Given the description of an element on the screen output the (x, y) to click on. 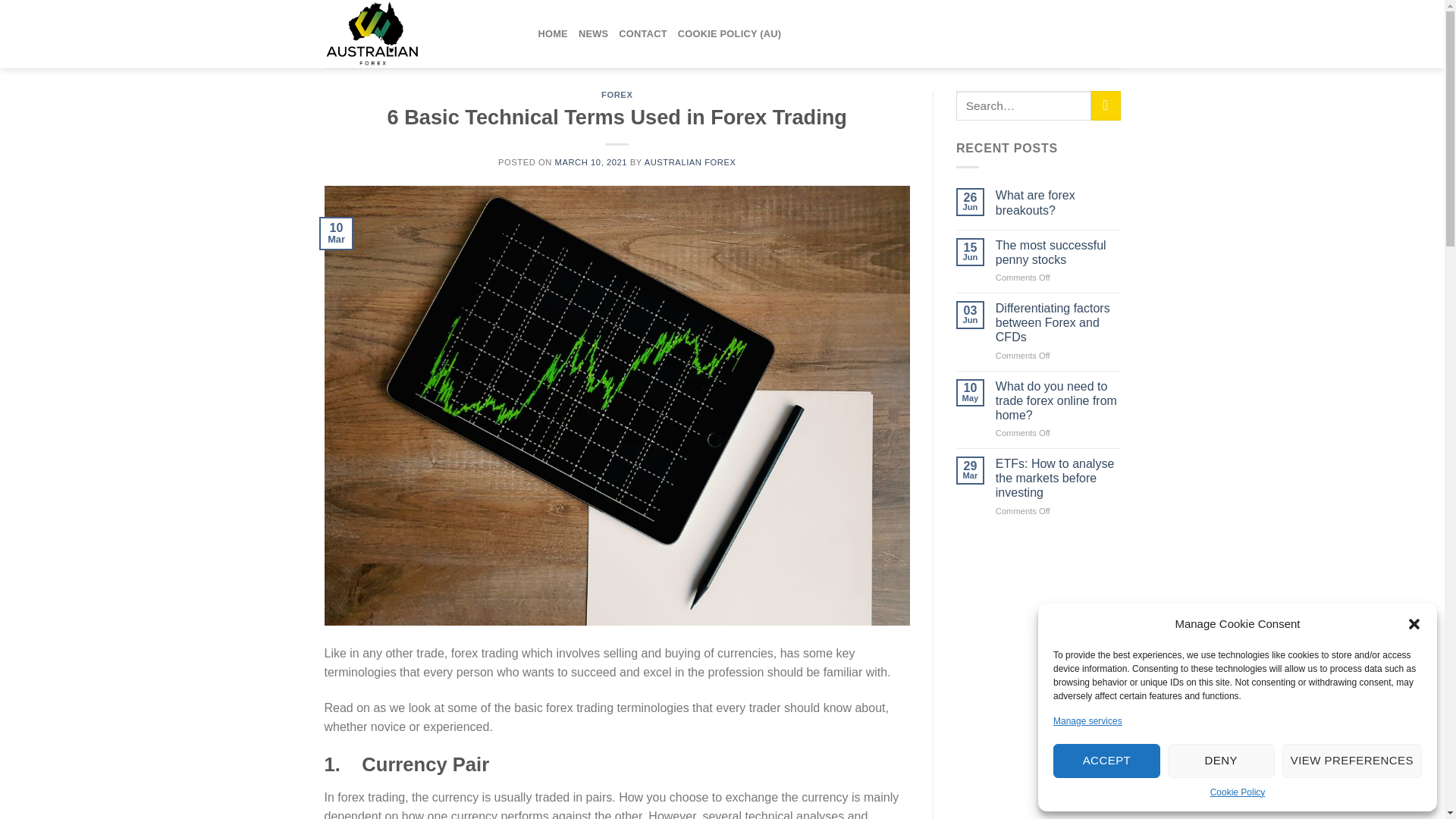
Manage services (1087, 721)
NEWS (593, 33)
DENY (1221, 760)
AUSTRALIAN FOREX (690, 162)
What are forex breakouts?  (1058, 202)
ETFs: How to analyse the markets before investing (1058, 478)
VIEW PREFERENCES (1352, 760)
Australian Forex (419, 33)
Differentiating factors between Forex and CFDs  (1058, 322)
CONTACT (642, 33)
FOREX (616, 94)
ACCEPT (1106, 760)
MARCH 10, 2021 (590, 162)
Cookie Policy (1237, 792)
